Given the description of an element on the screen output the (x, y) to click on. 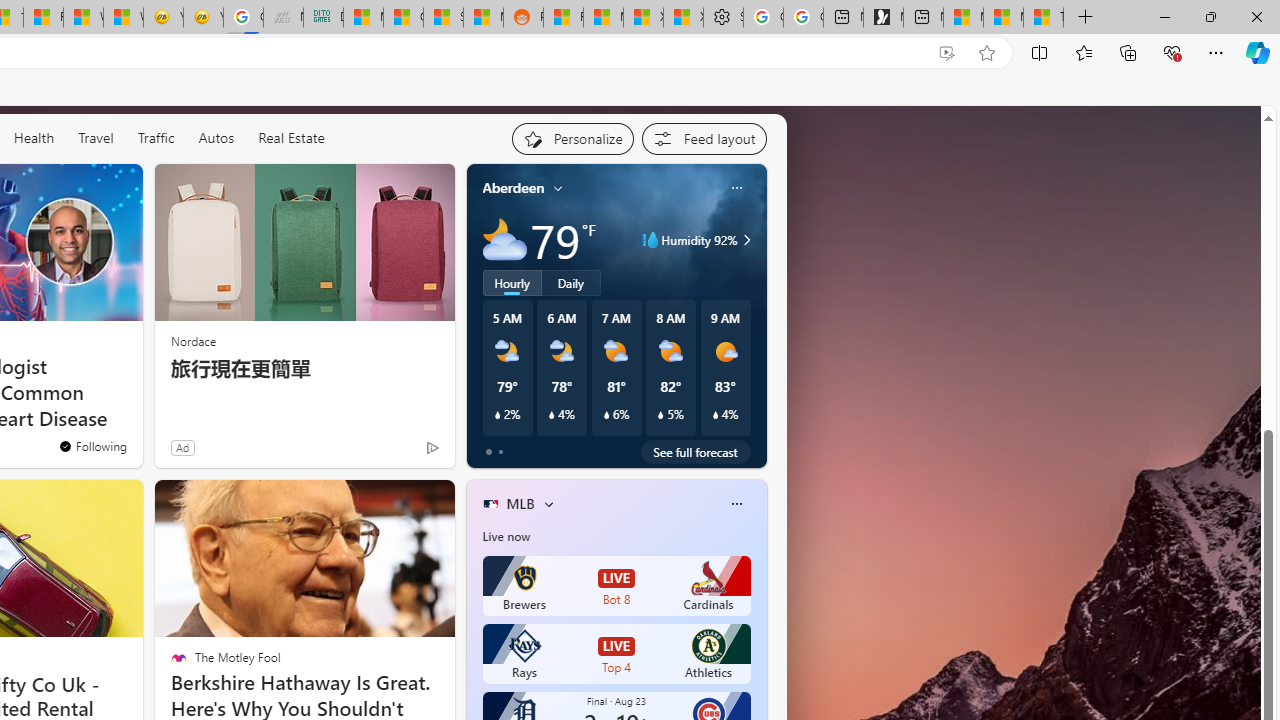
You're following Newsweek (92, 445)
Nordace (193, 340)
